Given the description of an element on the screen output the (x, y) to click on. 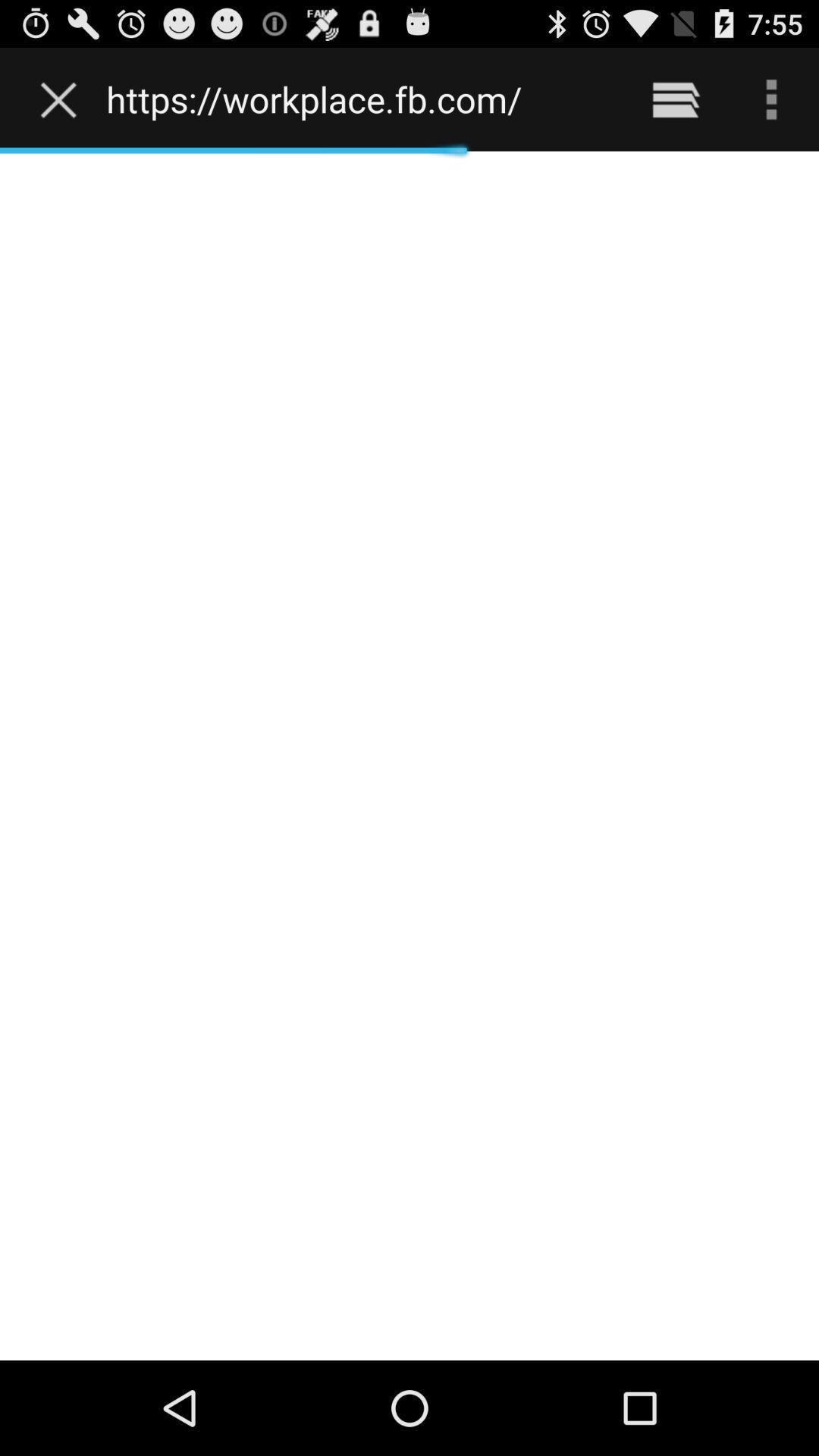
tap https workplace fb (357, 99)
